Given the description of an element on the screen output the (x, y) to click on. 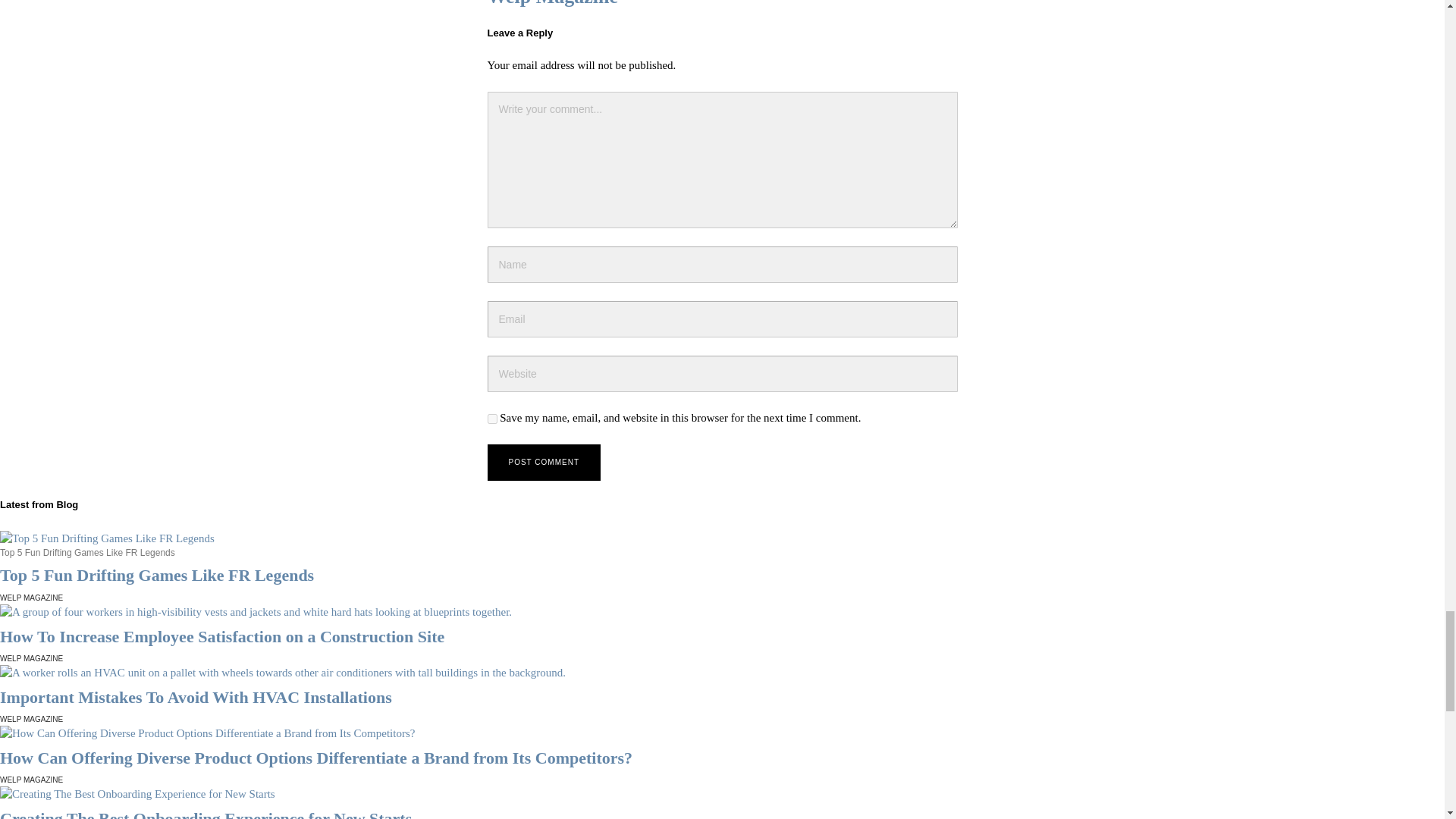
yes (491, 419)
Post Comment (542, 462)
